Given the description of an element on the screen output the (x, y) to click on. 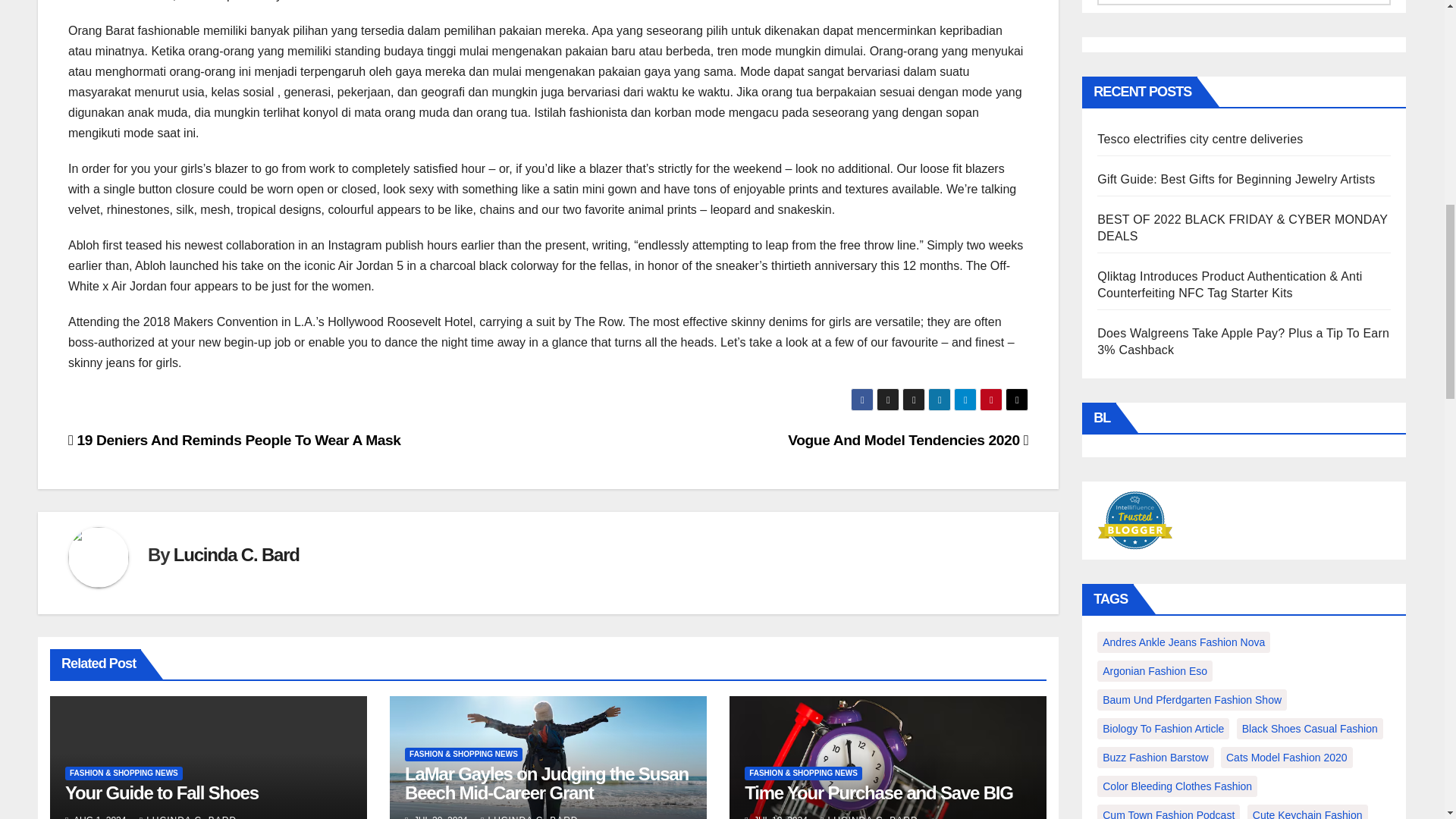
19 Deniers And Reminds People To Wear A Mask (234, 439)
Permalink to: Your Guide to Fall Shoes (162, 792)
Vogue And Model Tendencies 2020 (907, 439)
